Given the description of an element on the screen output the (x, y) to click on. 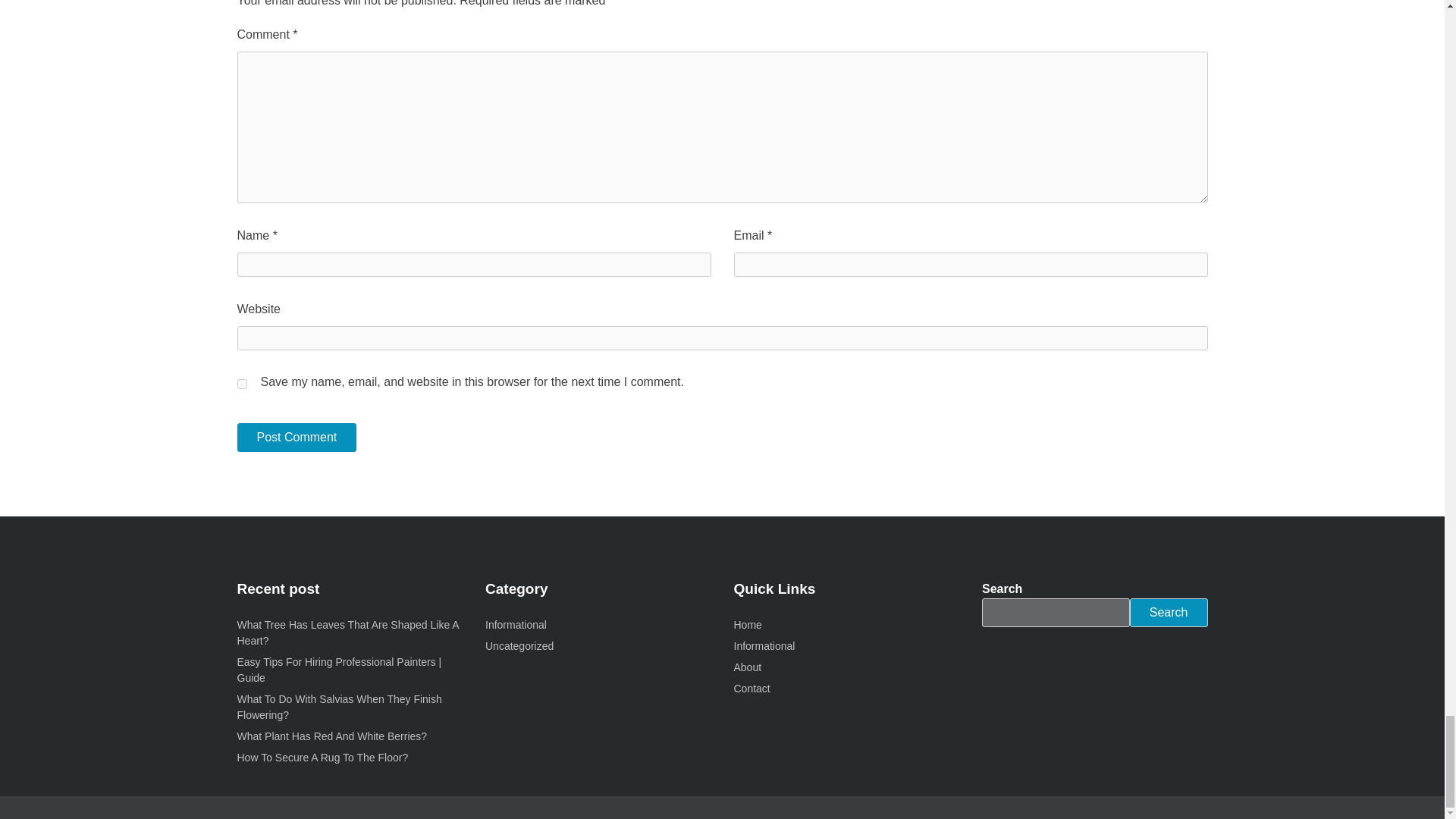
Informational (515, 624)
About (747, 666)
What To Do With Salvias When They Finish Flowering? (338, 706)
Post Comment (295, 437)
Informational (763, 645)
Home (747, 624)
Contact (751, 688)
Post Comment (295, 437)
Uncategorized (518, 645)
How To Secure A Rug To The Floor? (321, 757)
